Given the description of an element on the screen output the (x, y) to click on. 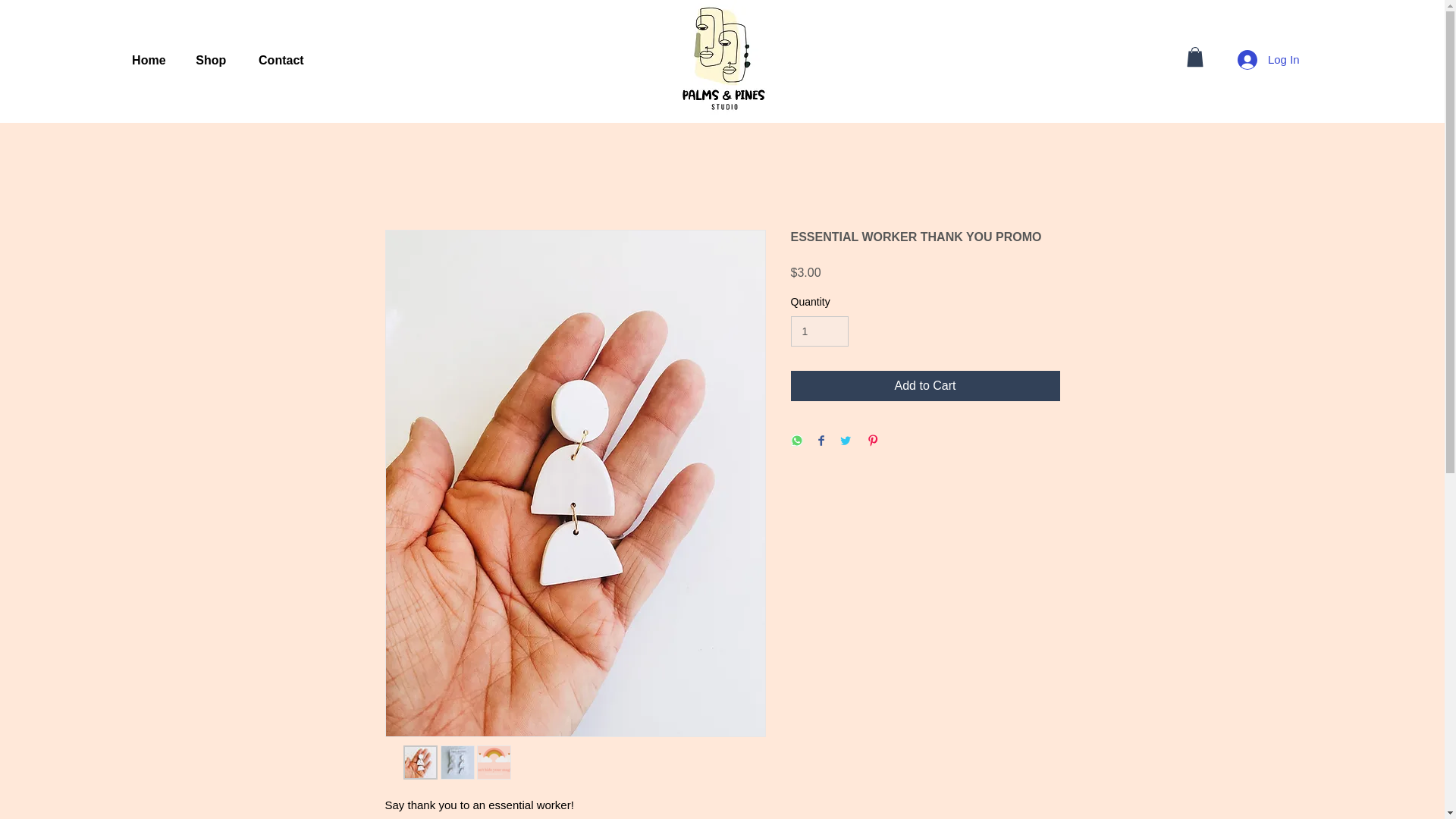
Contact (281, 60)
Log In (1268, 59)
Add to Cart (924, 386)
1 (818, 331)
Home (148, 60)
